Given the description of an element on the screen output the (x, y) to click on. 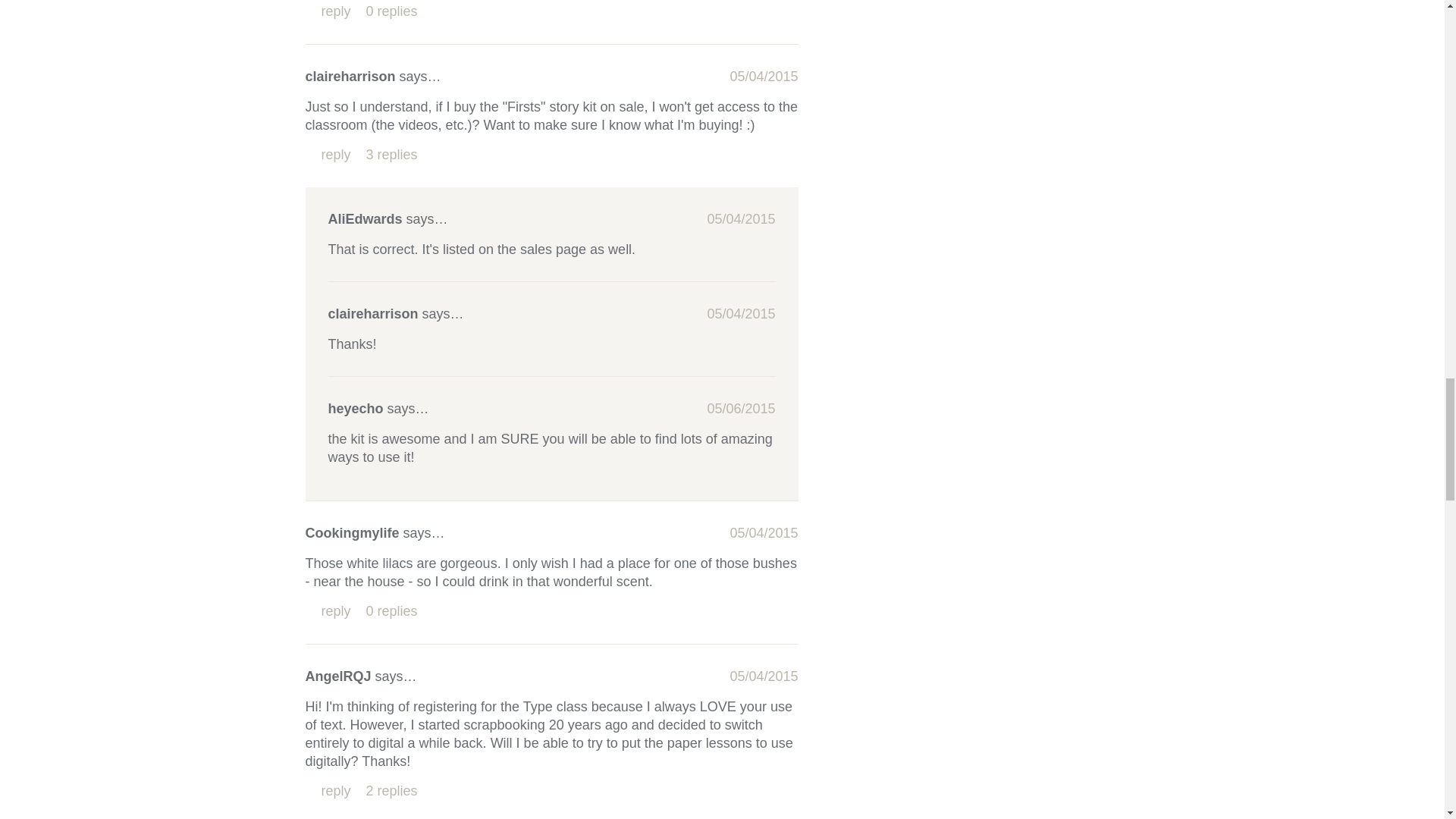
2015-05-04T12:24:59-04:00 (740, 218)
2015-05-04T11:46:17-04:00 (763, 532)
2015-05-06T08:53:26-04:00 (740, 408)
2015-05-04T15:14:48-04:00 (763, 676)
2015-05-04T13:34:19-04:00 (740, 313)
2015-05-04T10:59:23-04:00 (763, 76)
